Given the description of an element on the screen output the (x, y) to click on. 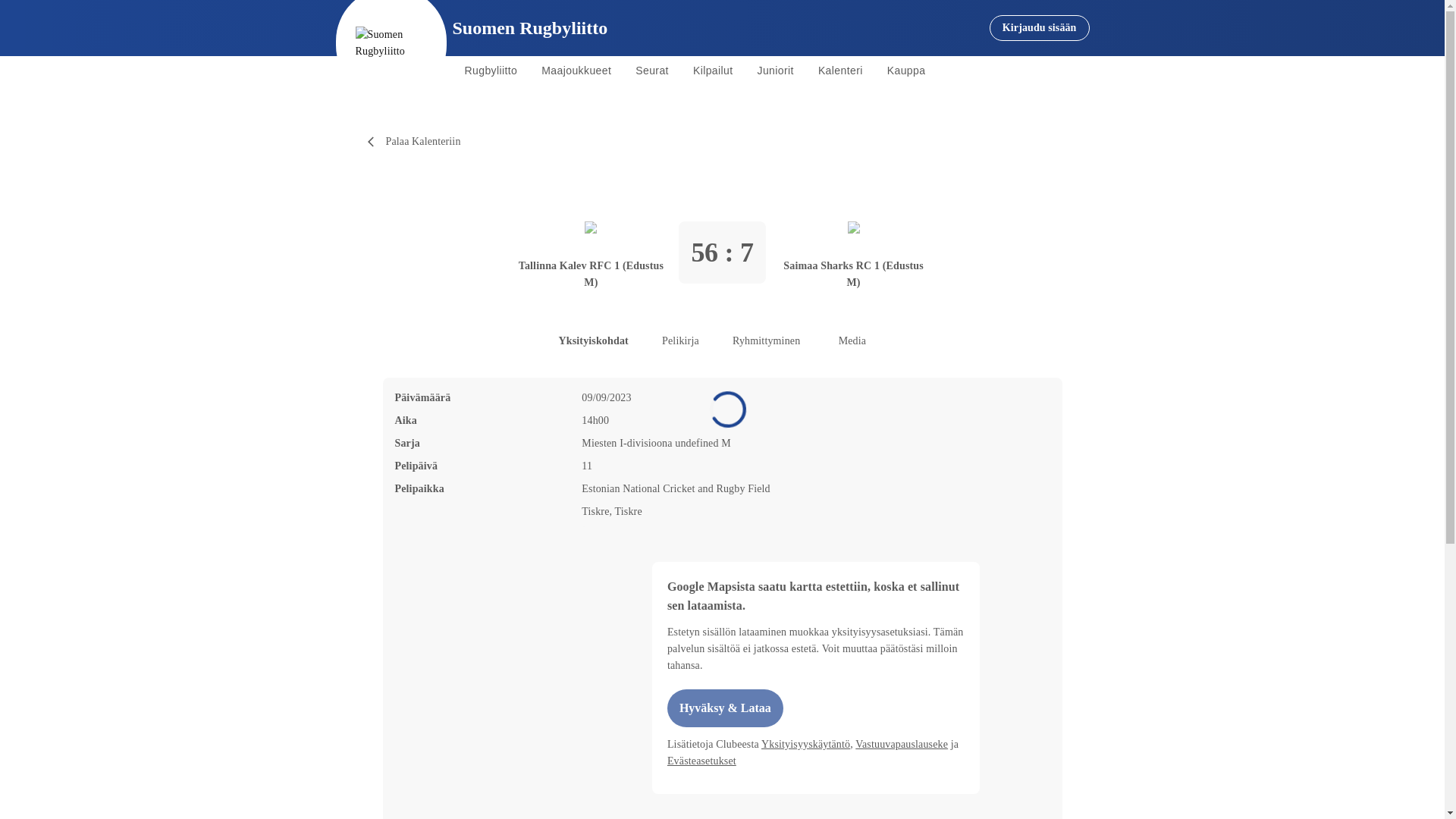
Rugbyliitto (490, 71)
Vastuuvapauslauseke (901, 744)
Suomen Rugbyliitto (529, 27)
Media (852, 340)
Kalenteri (840, 71)
Ryhmittyminen (766, 340)
Kauppa (906, 71)
Palaa Kalenteriin (414, 141)
Juniorit (775, 71)
